Given the description of an element on the screen output the (x, y) to click on. 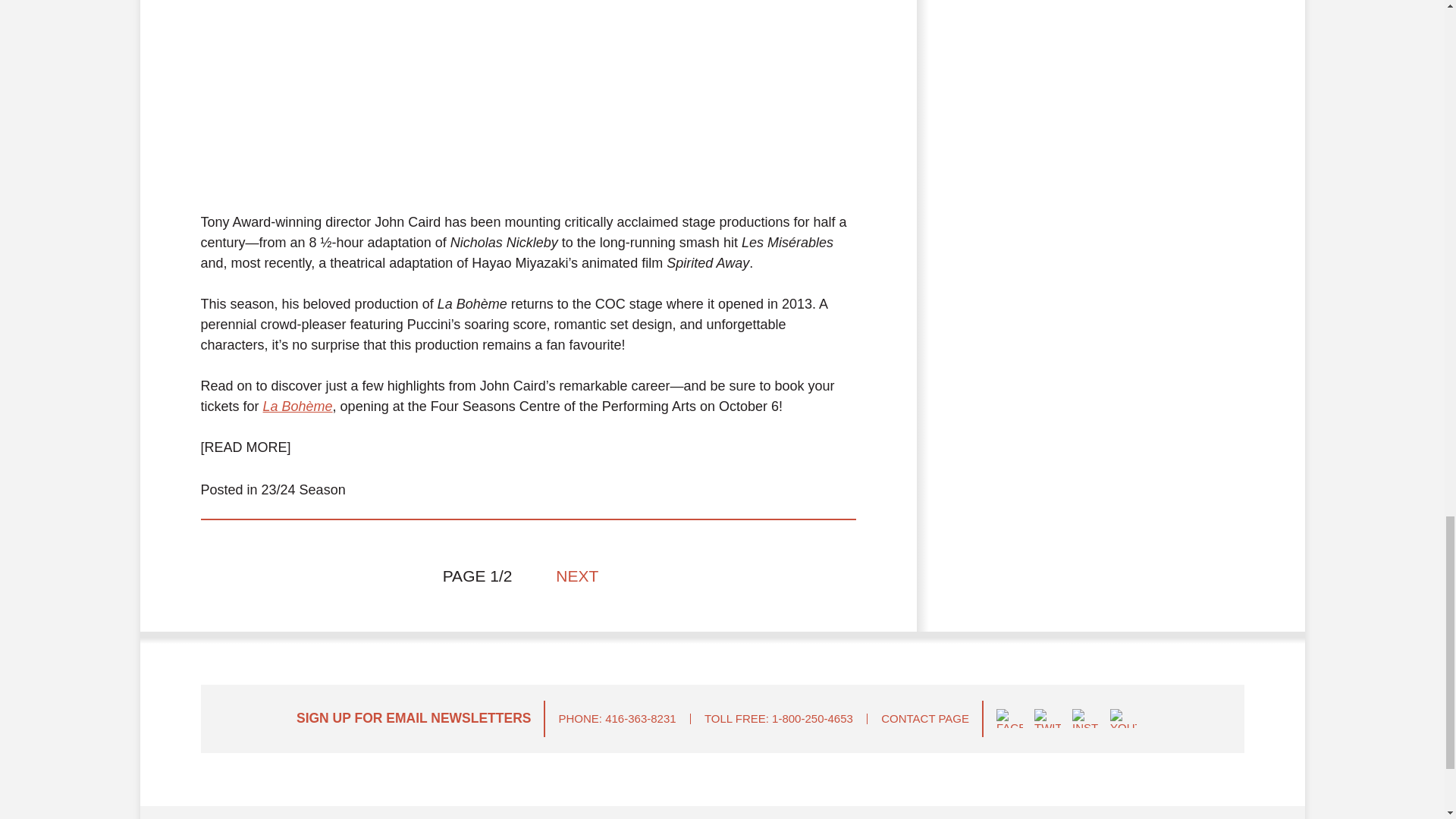
NEXT (584, 575)
